Given the description of an element on the screen output the (x, y) to click on. 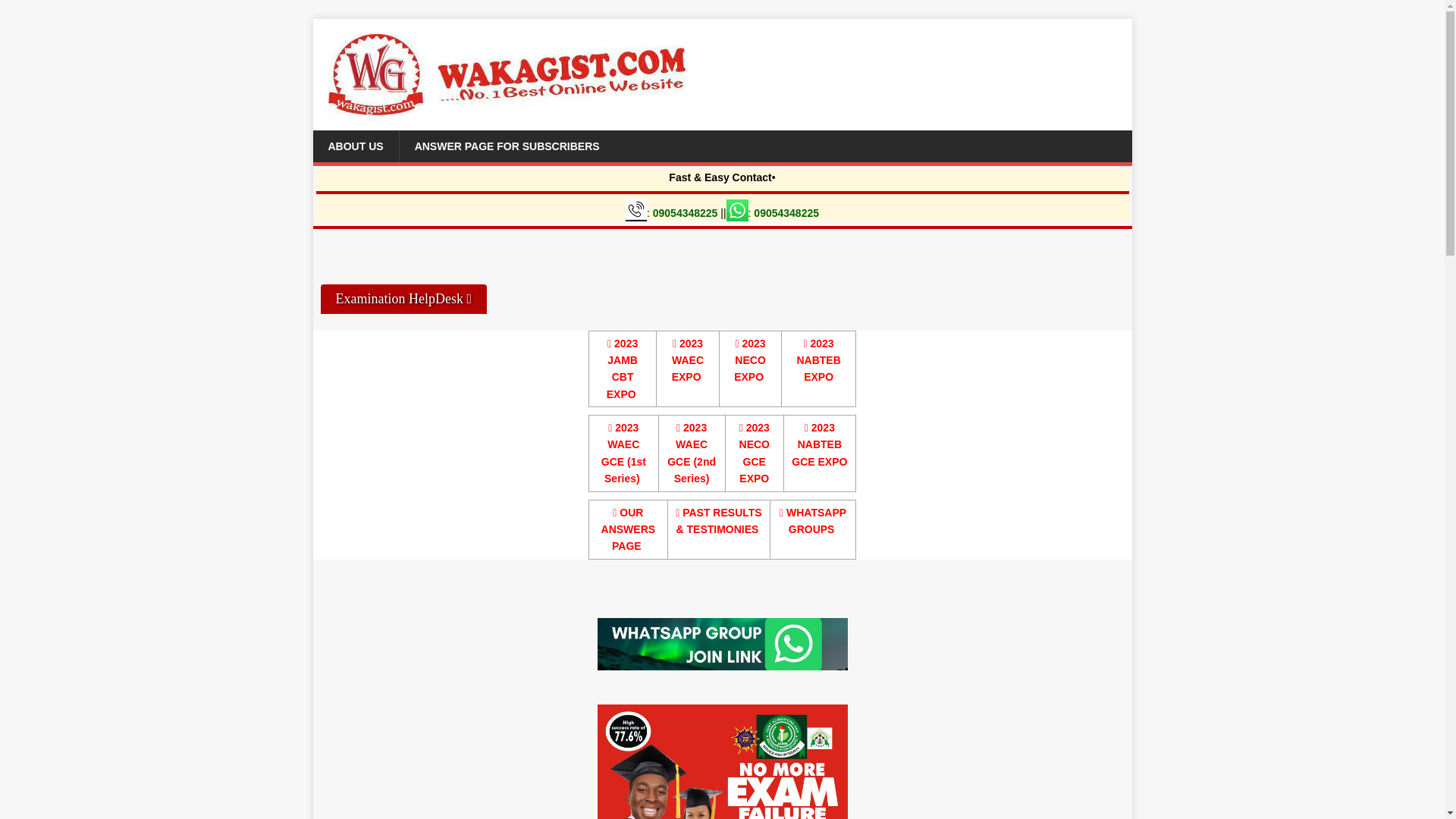
 OUR ANSWERS PAGE  (627, 529)
All Examinations Whatsapp Groups By ExamWap - Wakagist.com (812, 521)
 2023 NECO EXPO  (749, 359)
wakagist (721, 761)
 WHATSAPP GROUPS  (812, 521)
 2023 WAEC EXPO  (687, 359)
wakagist (721, 644)
ABOUT US (355, 146)
ANSWER PAGE FOR SUBSCRIBERS (506, 146)
 2023 NABTEB GCE EXPO (819, 444)
 2023 NABTEB EXPO (818, 359)
